Given the description of an element on the screen output the (x, y) to click on. 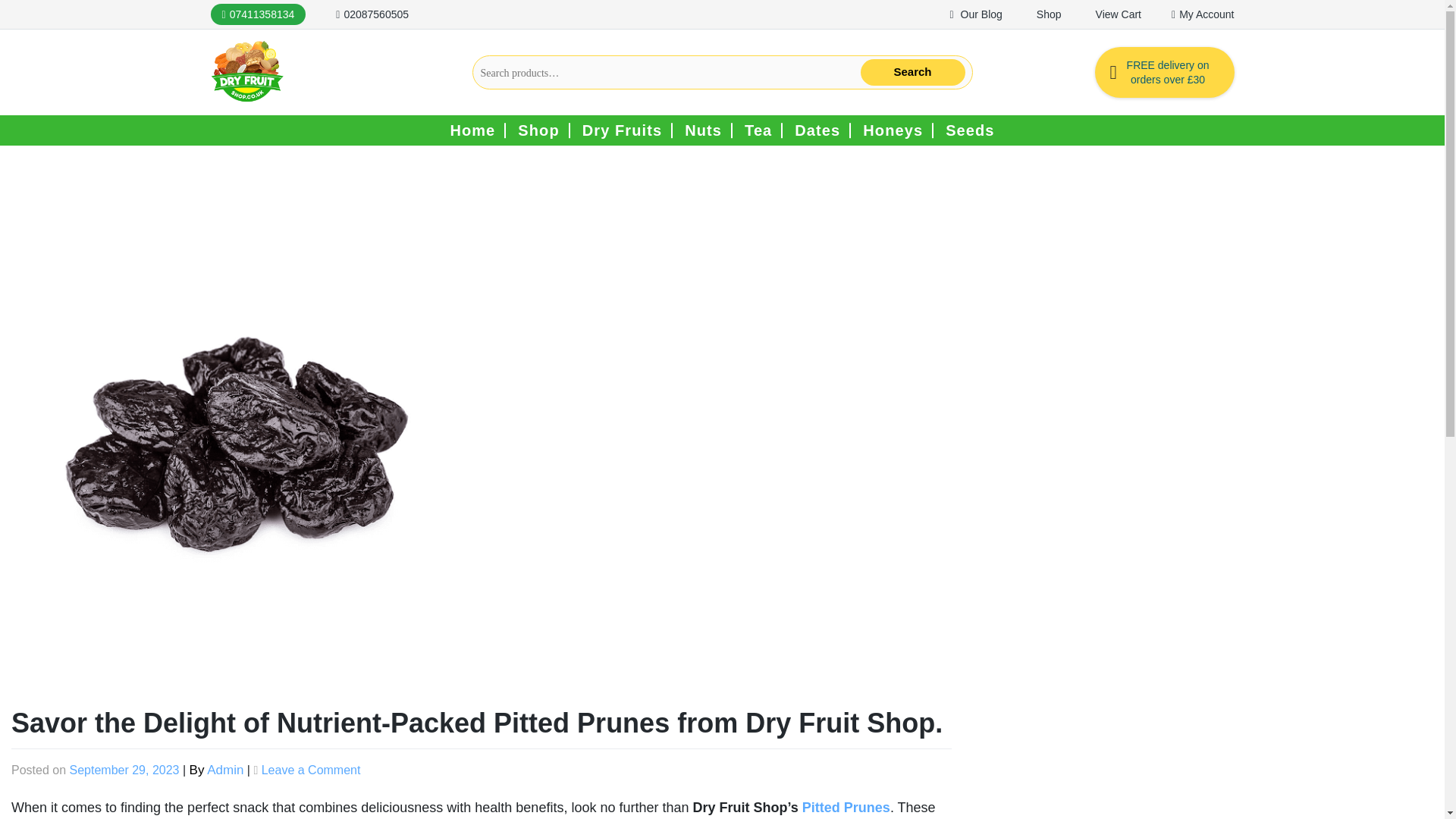
Home (472, 130)
Admin (224, 769)
Honeys (893, 130)
Tea (757, 130)
Seeds (969, 130)
My Account (1203, 14)
Dates (817, 130)
September 29, 2023 (124, 769)
View Cart (1116, 14)
02087560505 (372, 14)
Shop (538, 130)
Dry Fruits (622, 130)
Our Blog (976, 14)
Search (911, 71)
